Given the description of an element on the screen output the (x, y) to click on. 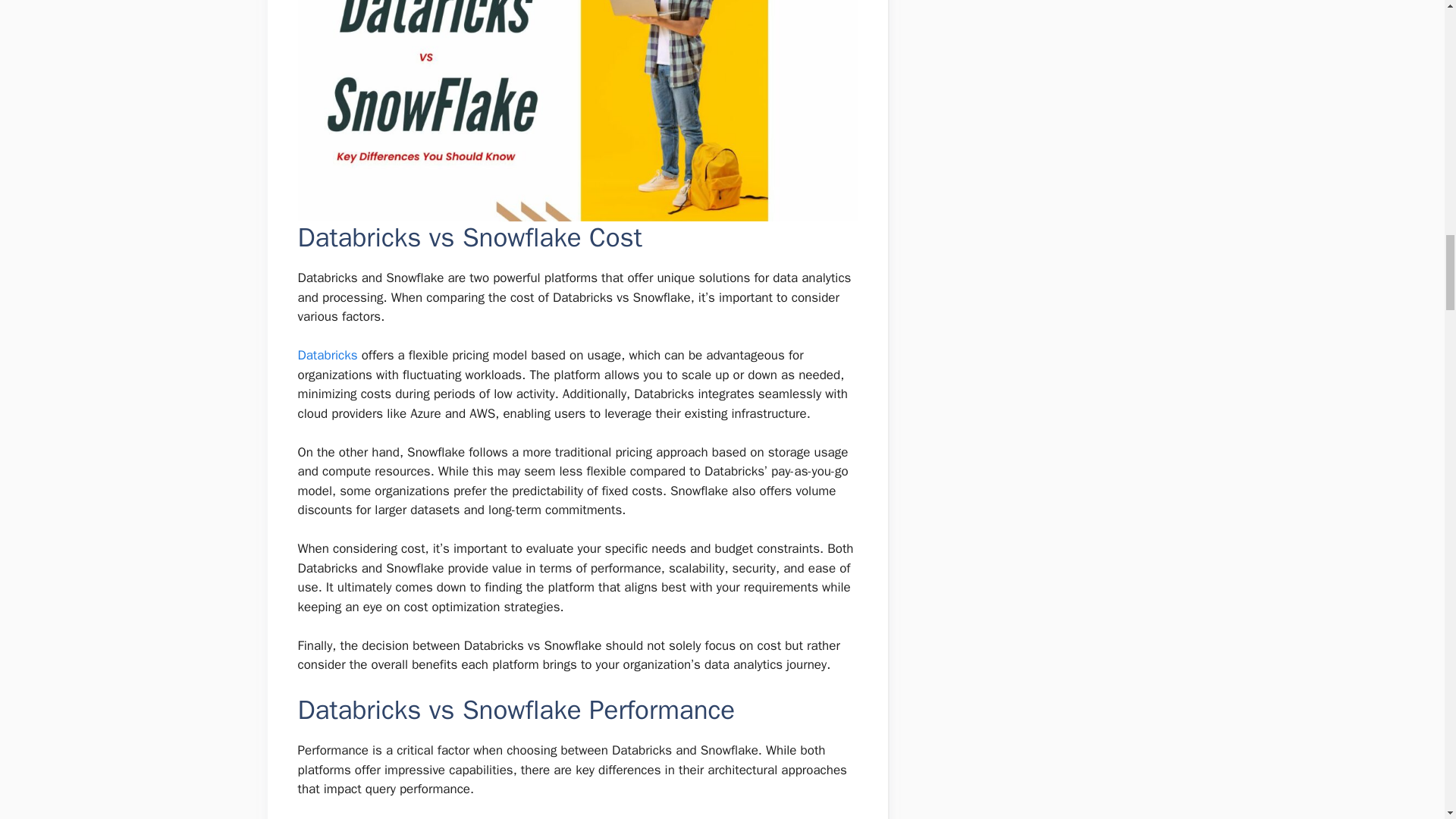
Databricks (326, 355)
